Given the description of an element on the screen output the (x, y) to click on. 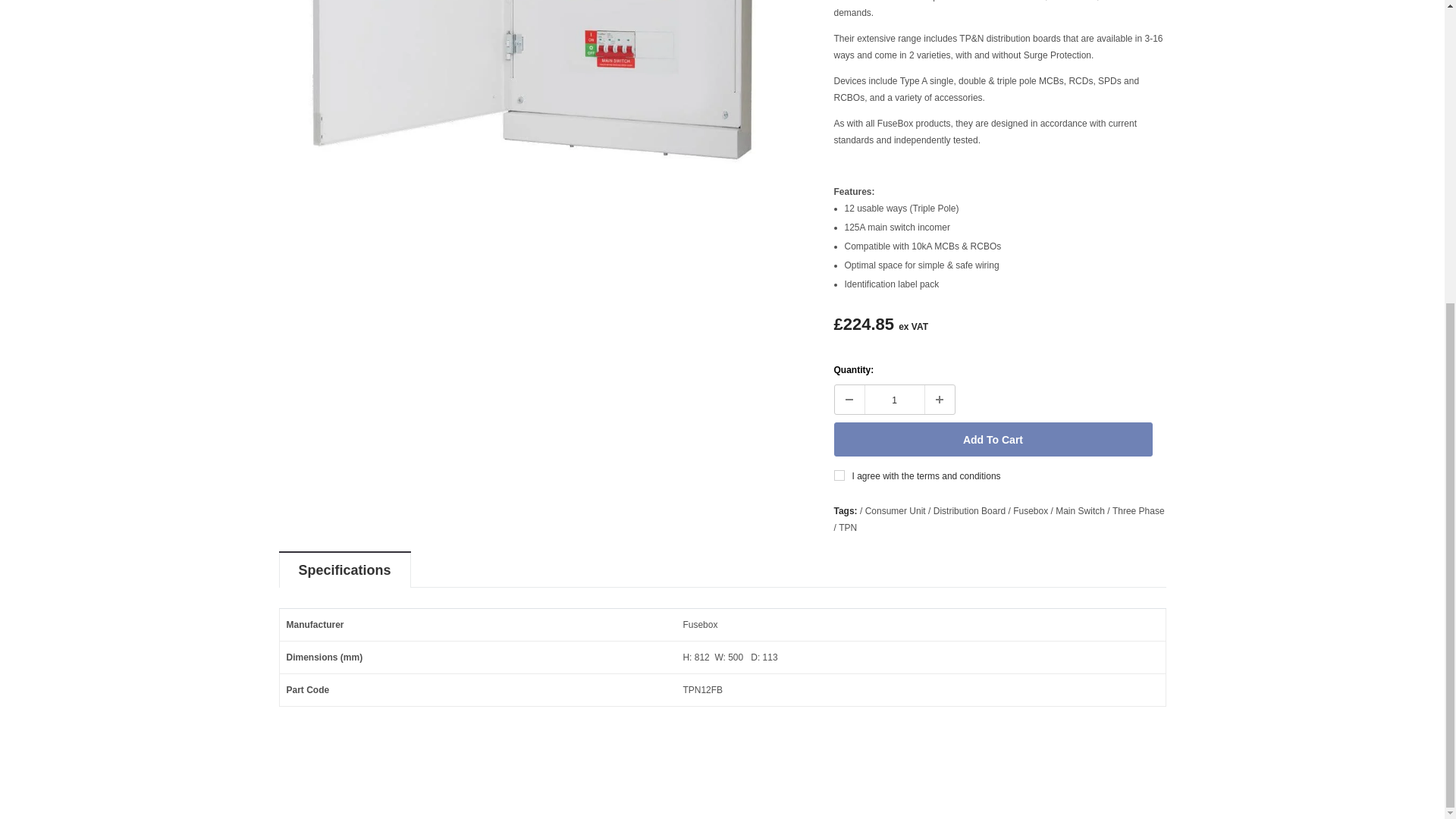
1 (893, 399)
Add to Cart (993, 439)
